Given the description of an element on the screen output the (x, y) to click on. 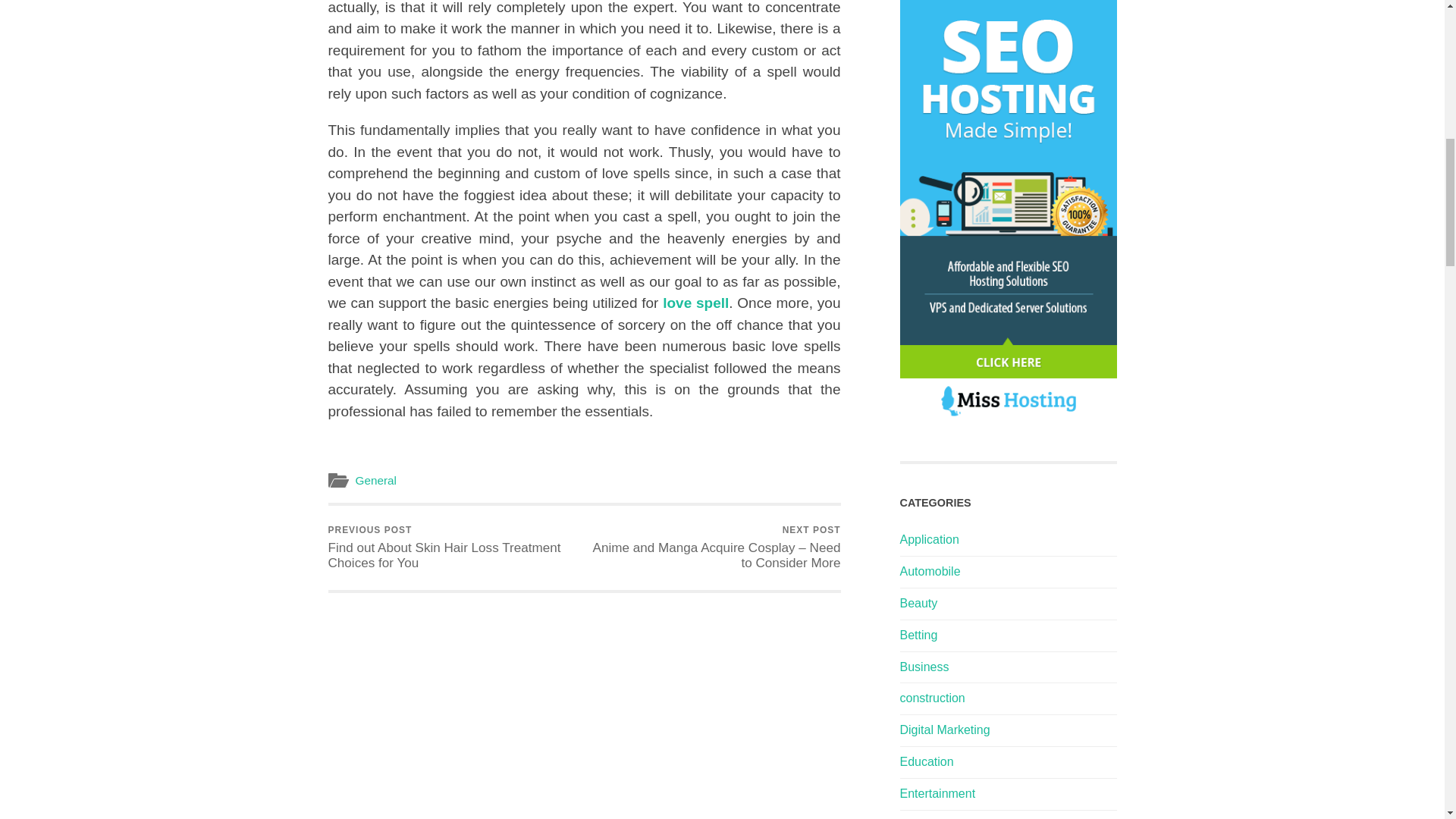
construction (931, 697)
Application (928, 539)
Beauty (918, 603)
Education (926, 761)
love spell (695, 302)
General (375, 480)
Betting (918, 634)
Automobile (929, 571)
Business (924, 666)
